Given the description of an element on the screen output the (x, y) to click on. 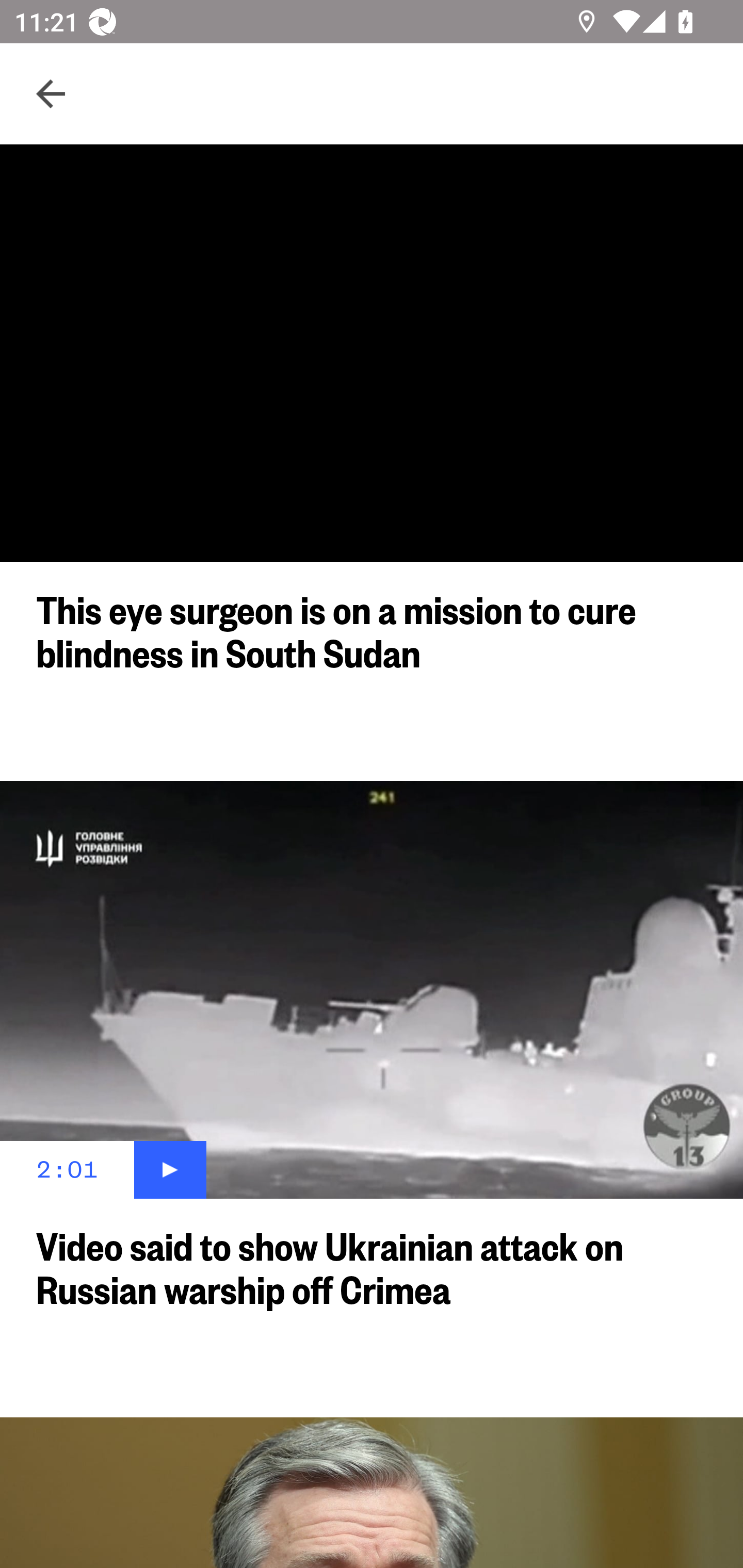
Navigate up (50, 93)
